Given the description of an element on the screen output the (x, y) to click on. 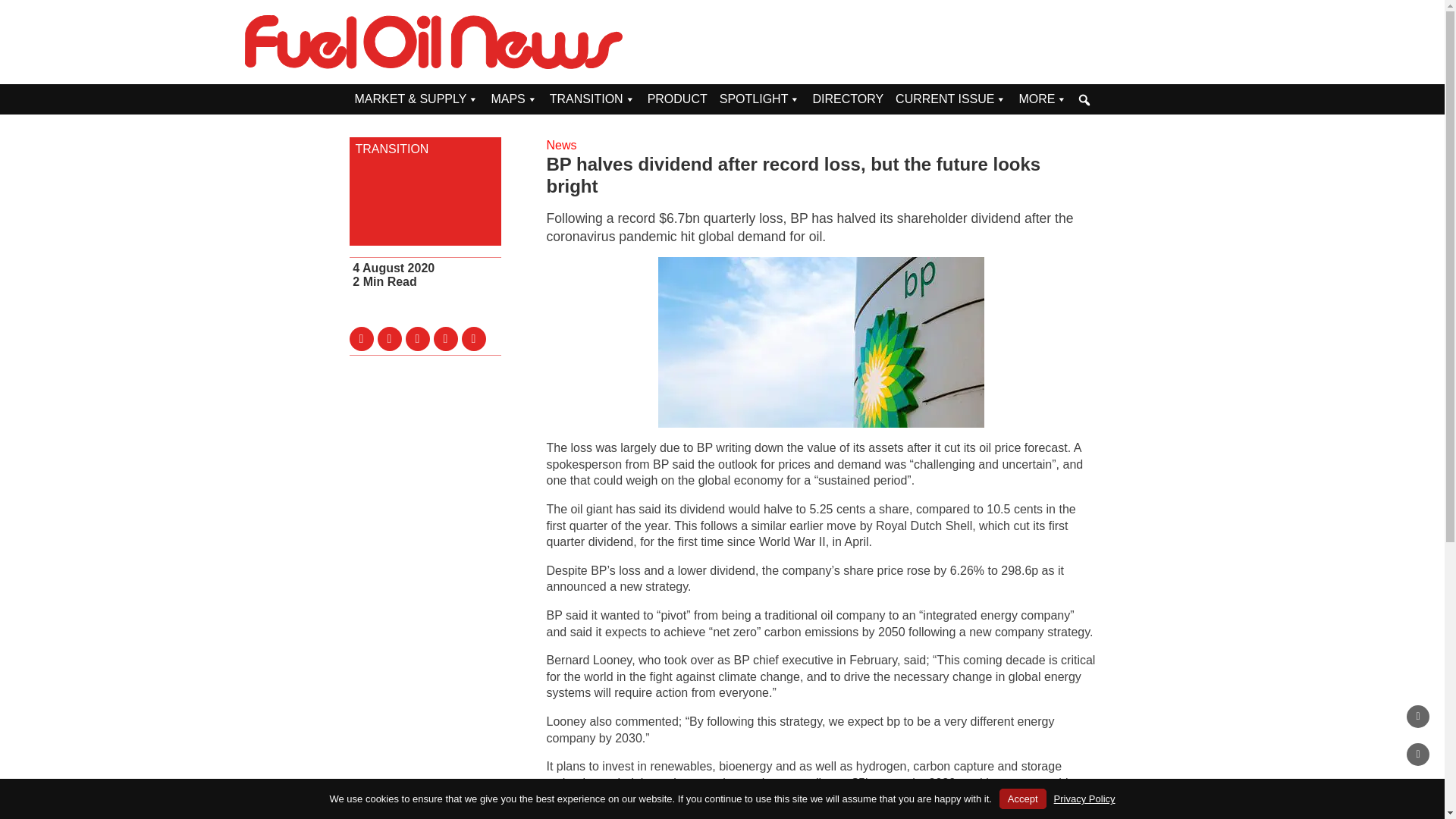
Share on Facebook (389, 338)
PRODUCT (677, 99)
SPOTLIGHT (759, 99)
TRANSITION (424, 149)
TRANSITION (592, 99)
link to home page (433, 41)
DIRECTORY (847, 99)
MAPS (513, 99)
Share on Email (445, 338)
Share on LinkedIn (416, 338)
